Given the description of an element on the screen output the (x, y) to click on. 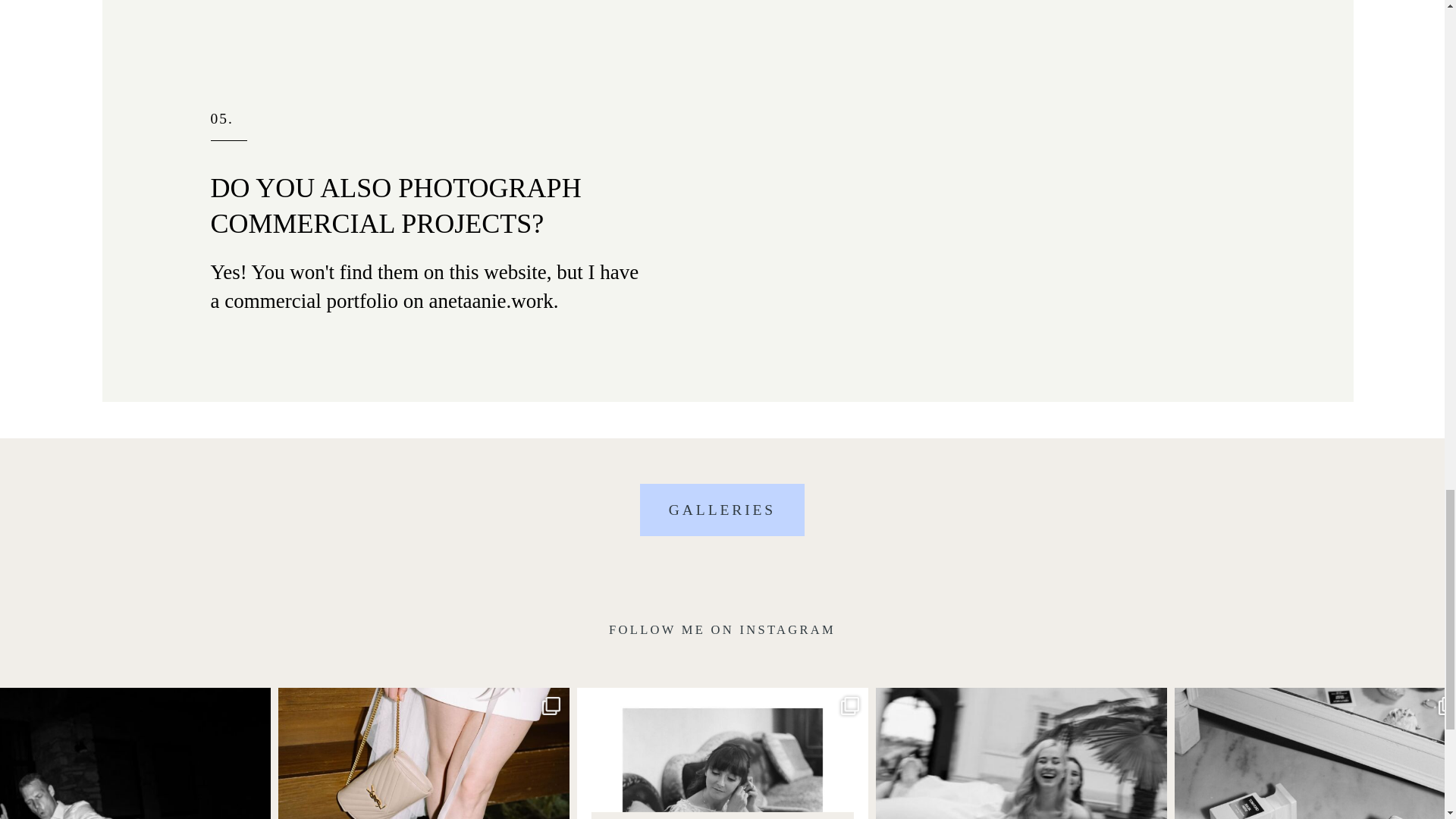
anetaanie.work (490, 300)
GALLERIES (721, 510)
